Given the description of an element on the screen output the (x, y) to click on. 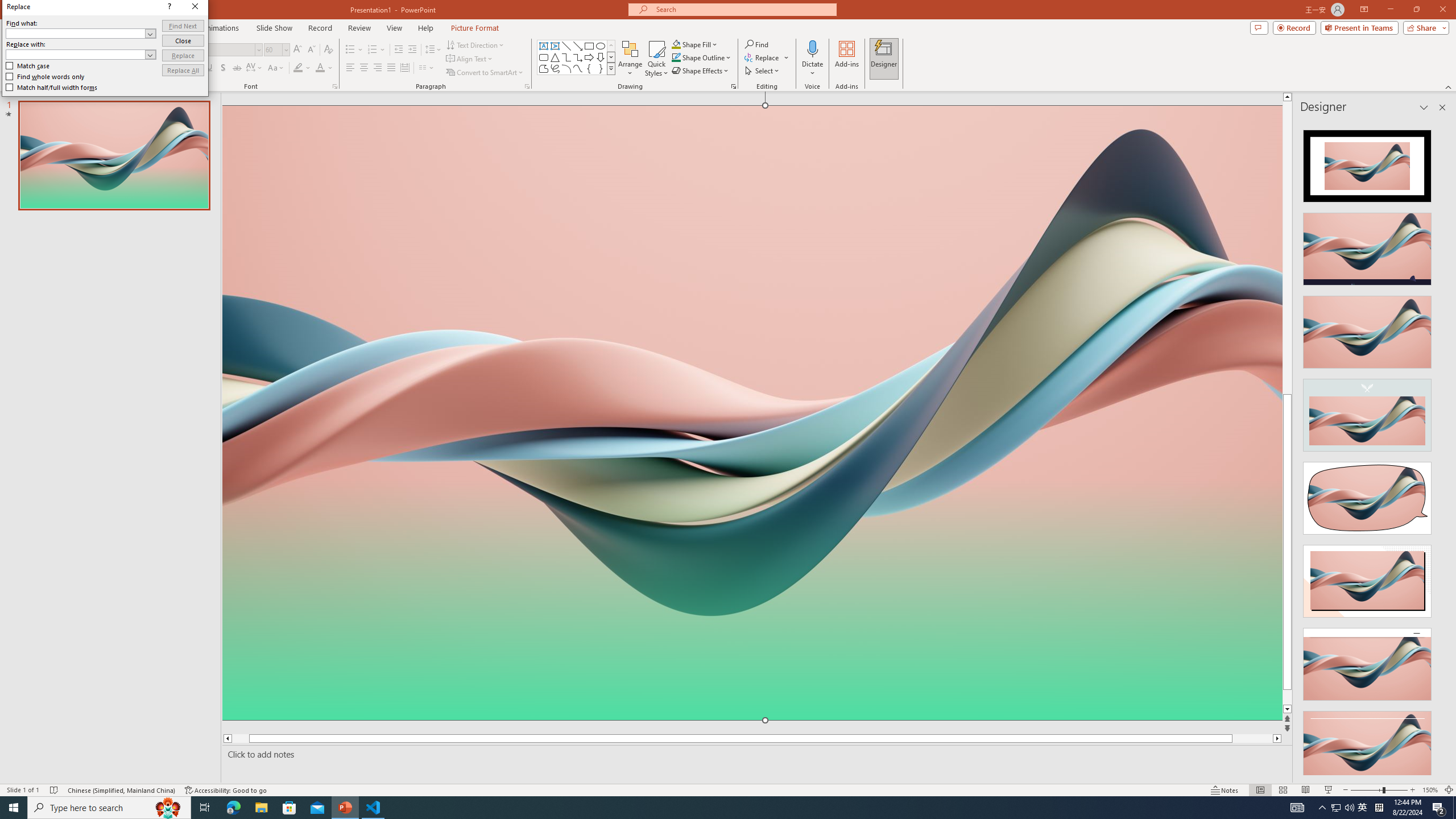
Convert to SmartArt (485, 72)
Match case (702, 339)
Select (762, 69)
